Given the description of an element on the screen output the (x, y) to click on. 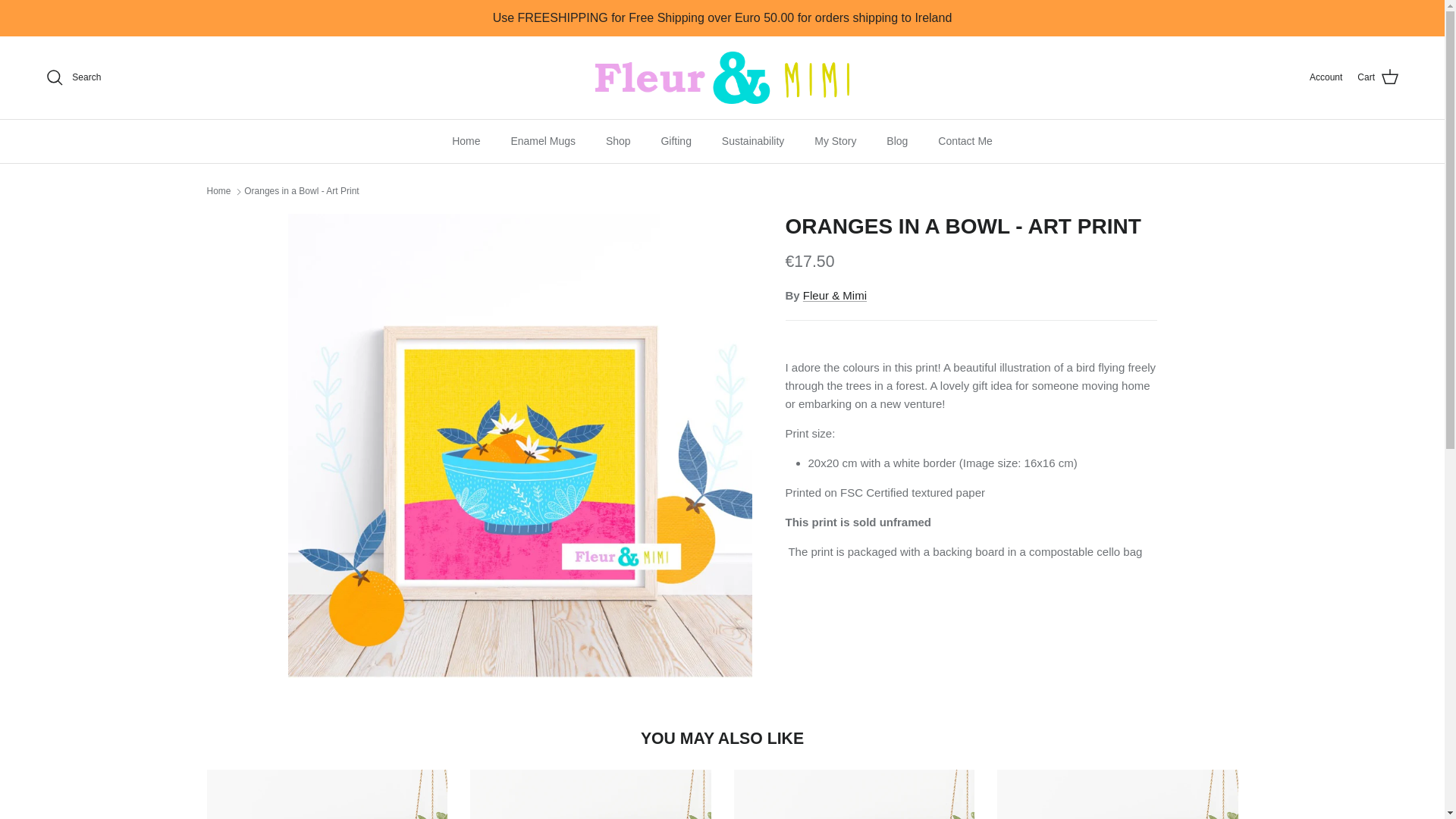
Shop (618, 140)
Enamel Mugs (542, 140)
Account (1325, 77)
Search (72, 76)
Cart (1377, 76)
Home (465, 140)
Gifting (675, 140)
